Given the description of an element on the screen output the (x, y) to click on. 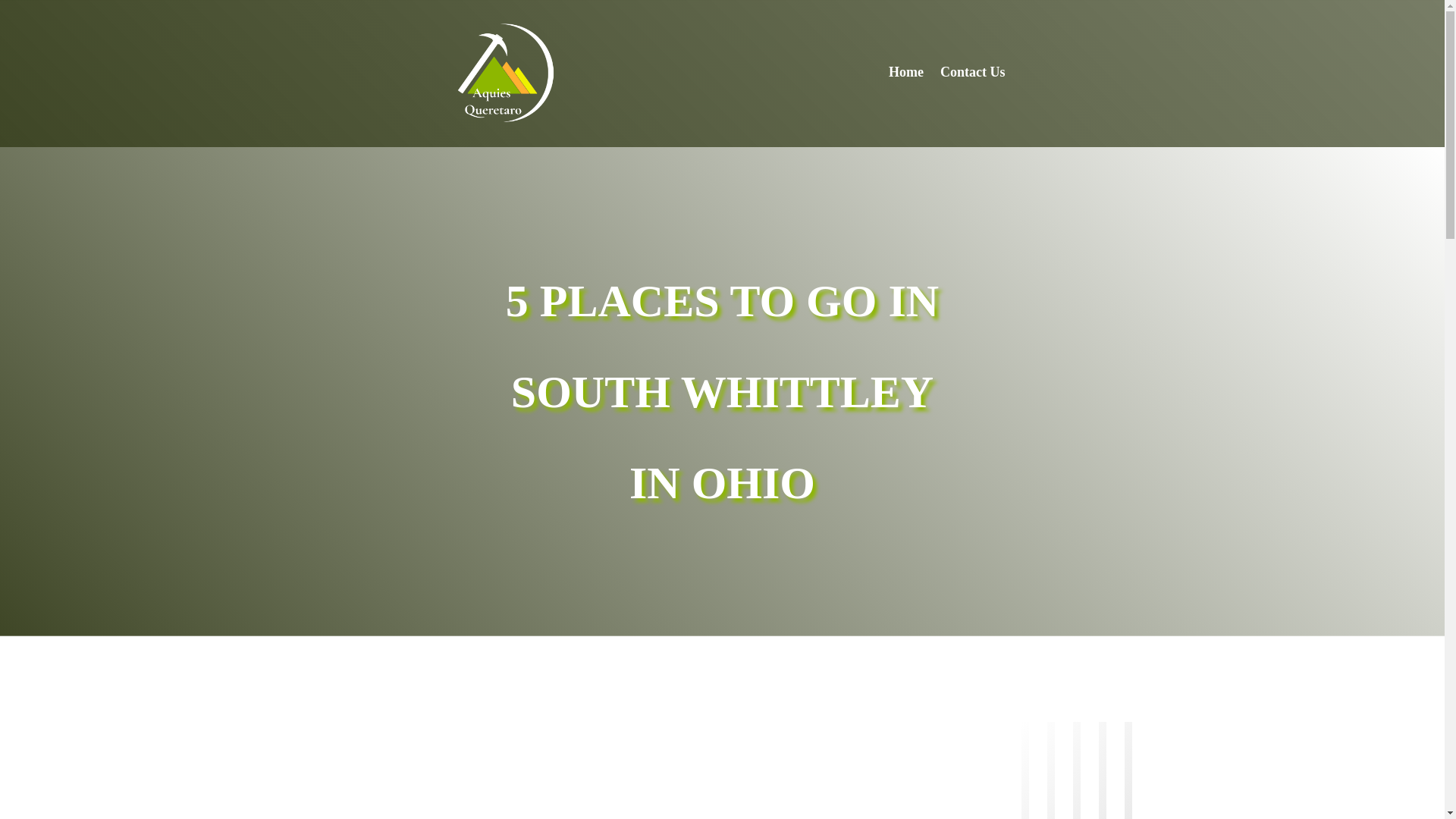
Home (905, 74)
Contact Us (973, 74)
